Given the description of an element on the screen output the (x, y) to click on. 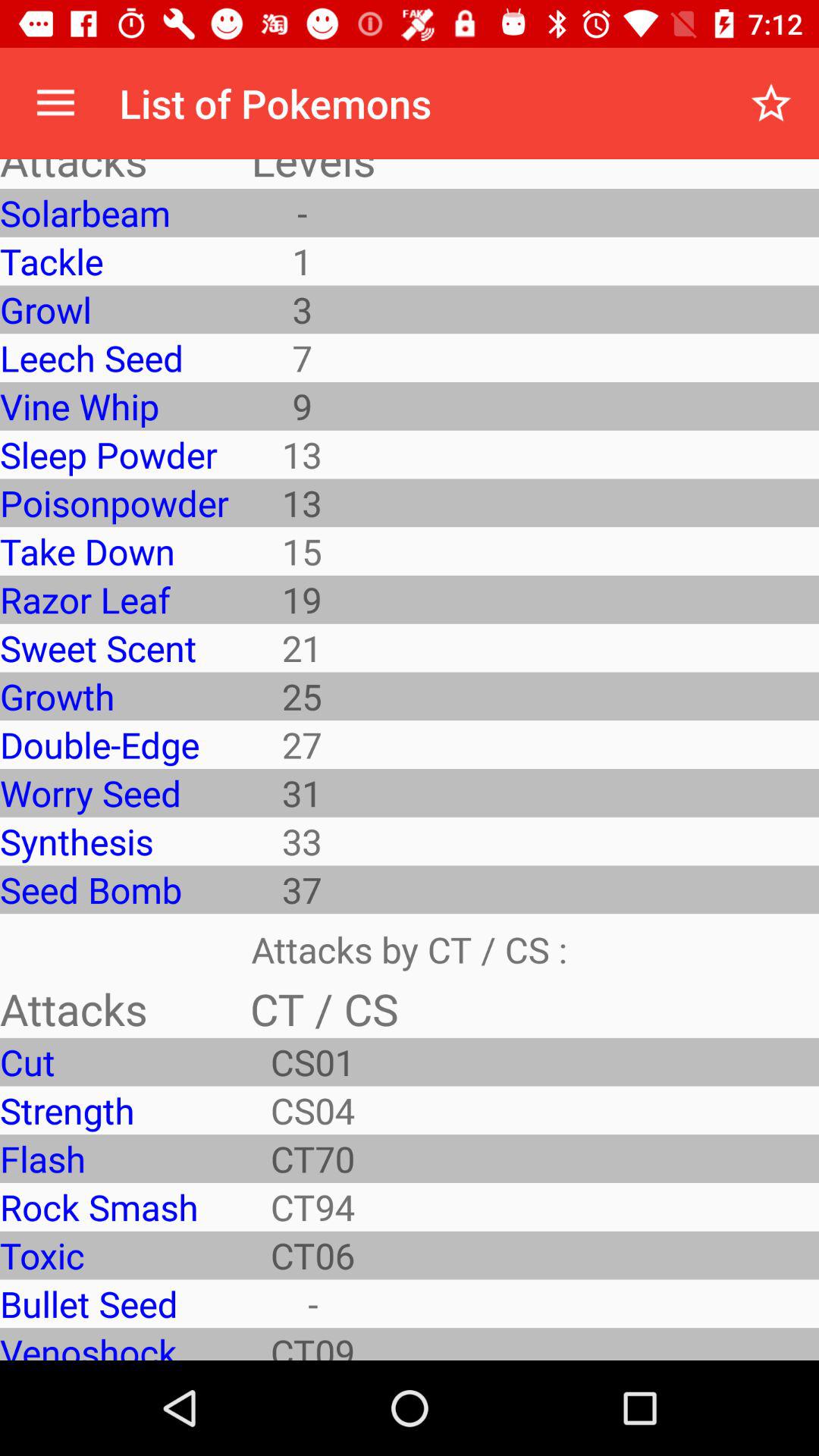
launch the app below vine whip icon (114, 454)
